Given the description of an element on the screen output the (x, y) to click on. 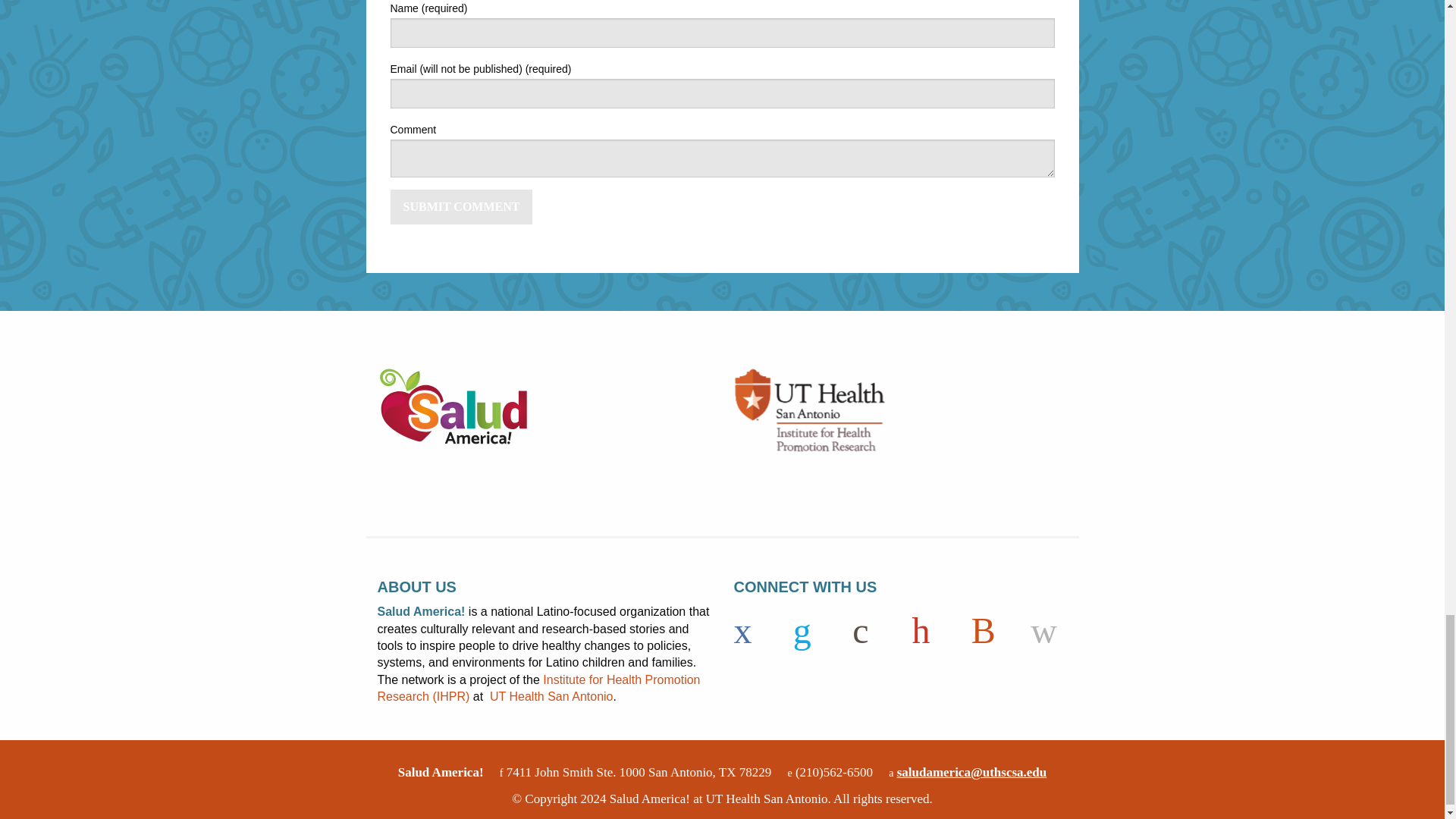
Submit Comment (461, 206)
